Given the description of an element on the screen output the (x, y) to click on. 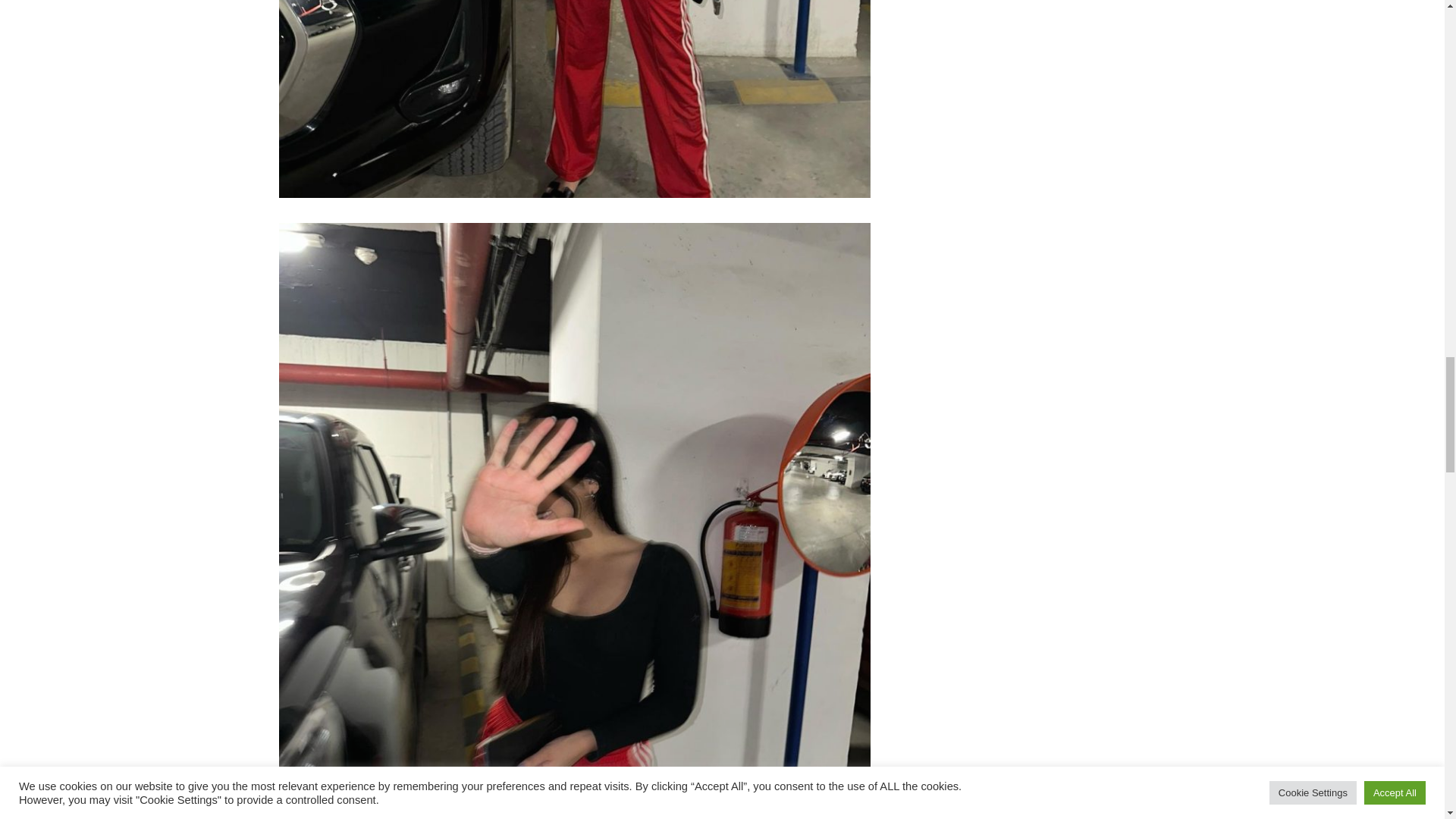
Netizens Unimpressed By Yashma Gill's Dressing (574, 98)
